Given the description of an element on the screen output the (x, y) to click on. 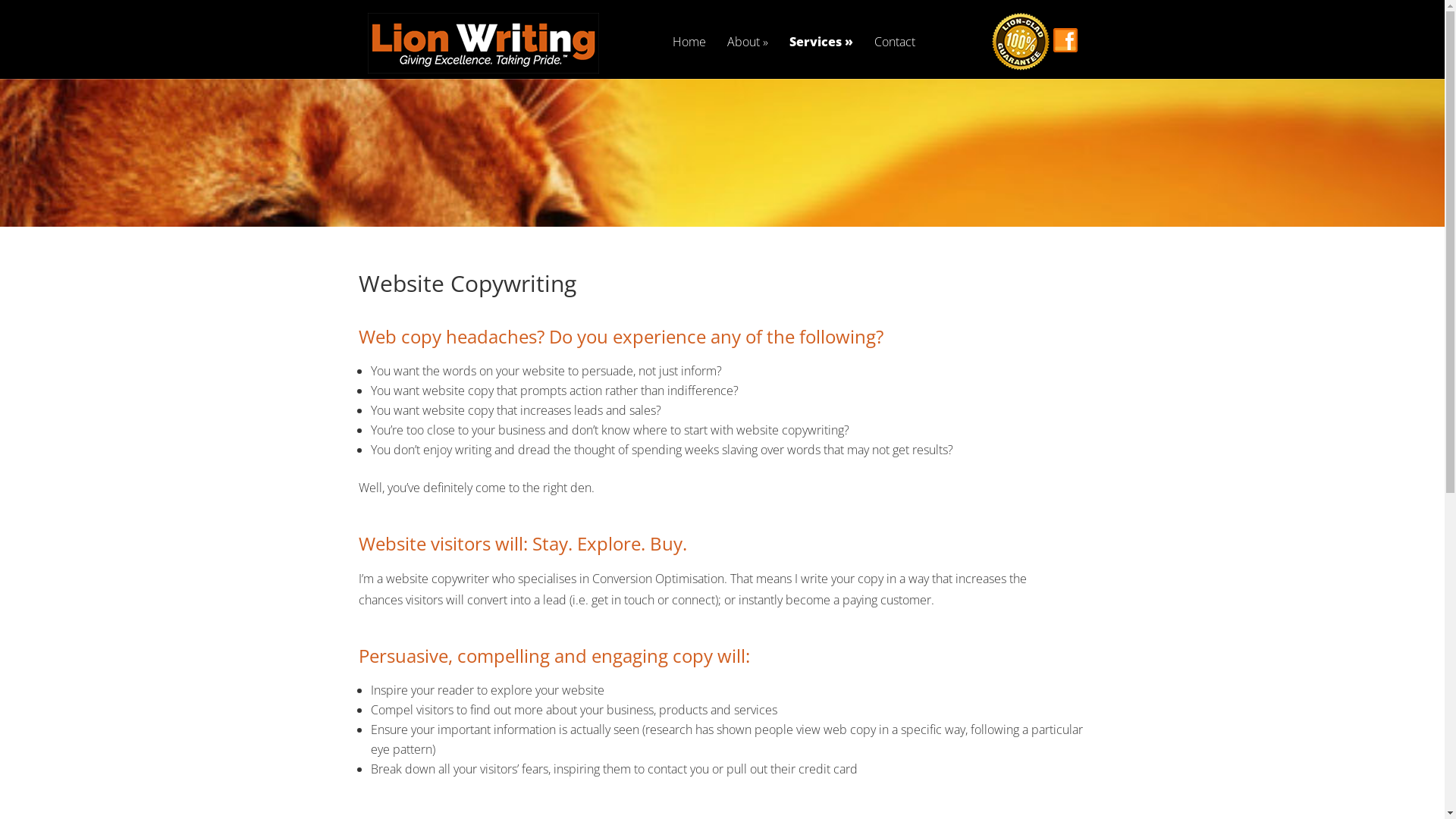
Contact Element type: text (894, 53)
About Element type: text (747, 53)
Services Element type: text (821, 53)
Home Element type: text (689, 53)
